Given the description of an element on the screen output the (x, y) to click on. 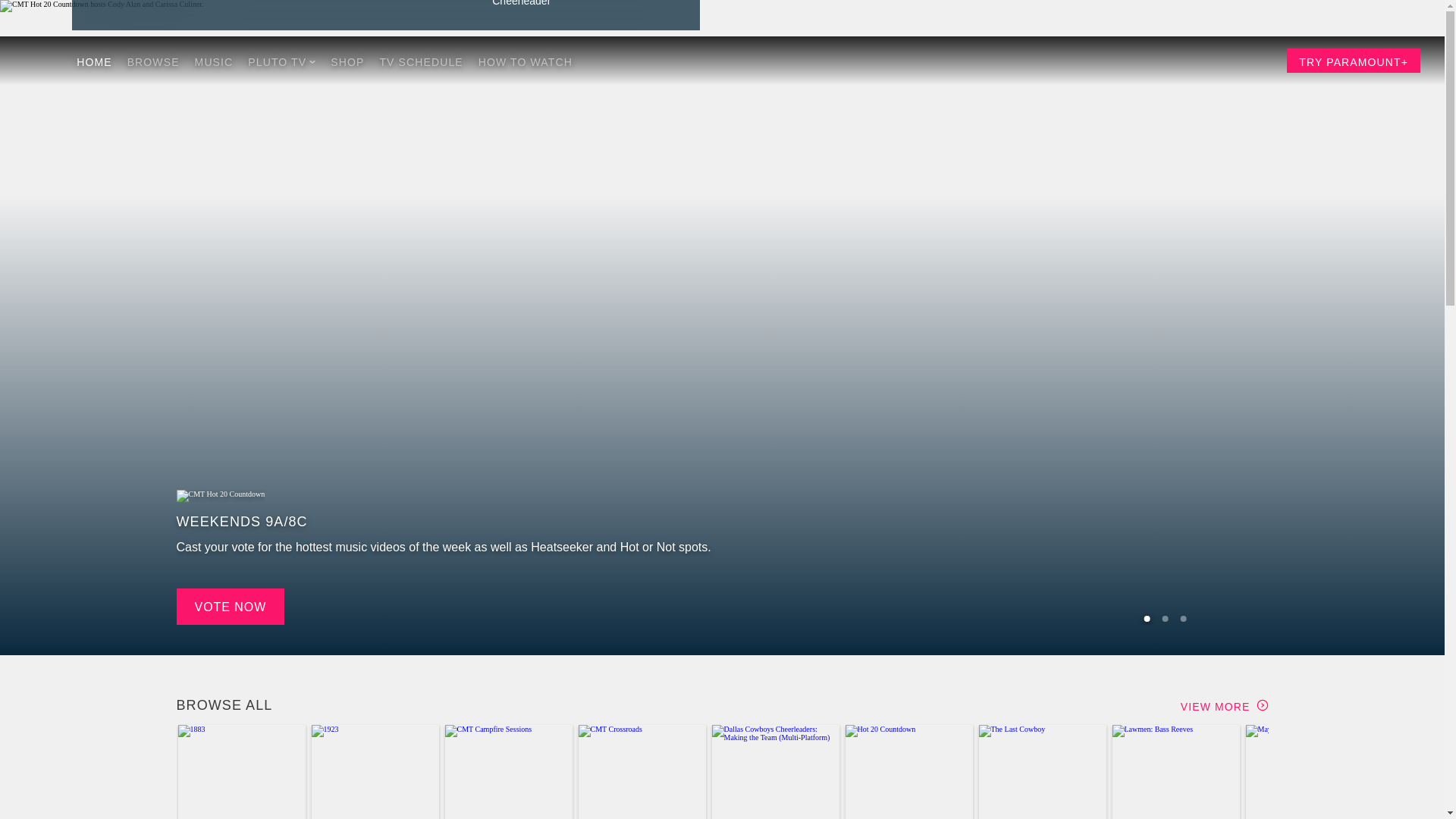
BROWSE (153, 60)
MUSIC (213, 60)
TV SCHEDULE (420, 60)
HOW TO WATCH (525, 60)
Watch CMT Dallas Cowboys Cheerleader (582, 7)
ArrowCircle-icon (1261, 705)
PLUTO TV (281, 60)
VIEW MORE (1224, 705)
VOTE NOW (229, 606)
